Given the description of an element on the screen output the (x, y) to click on. 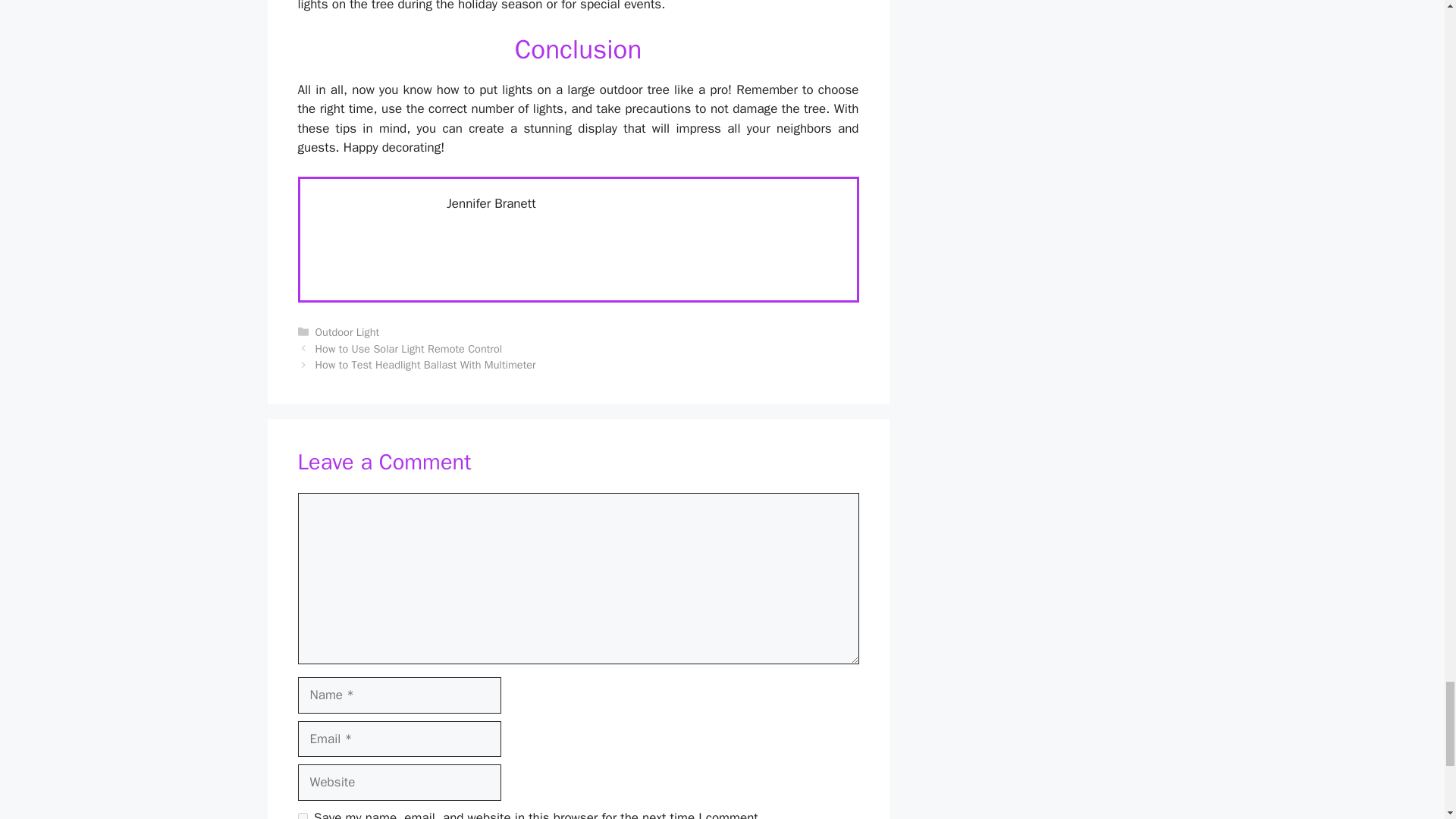
Outdoor Light (347, 332)
yes (302, 816)
How to Test Headlight Ballast With Multimeter (425, 364)
How to Use Solar Light Remote Control (408, 348)
